Given the description of an element on the screen output the (x, y) to click on. 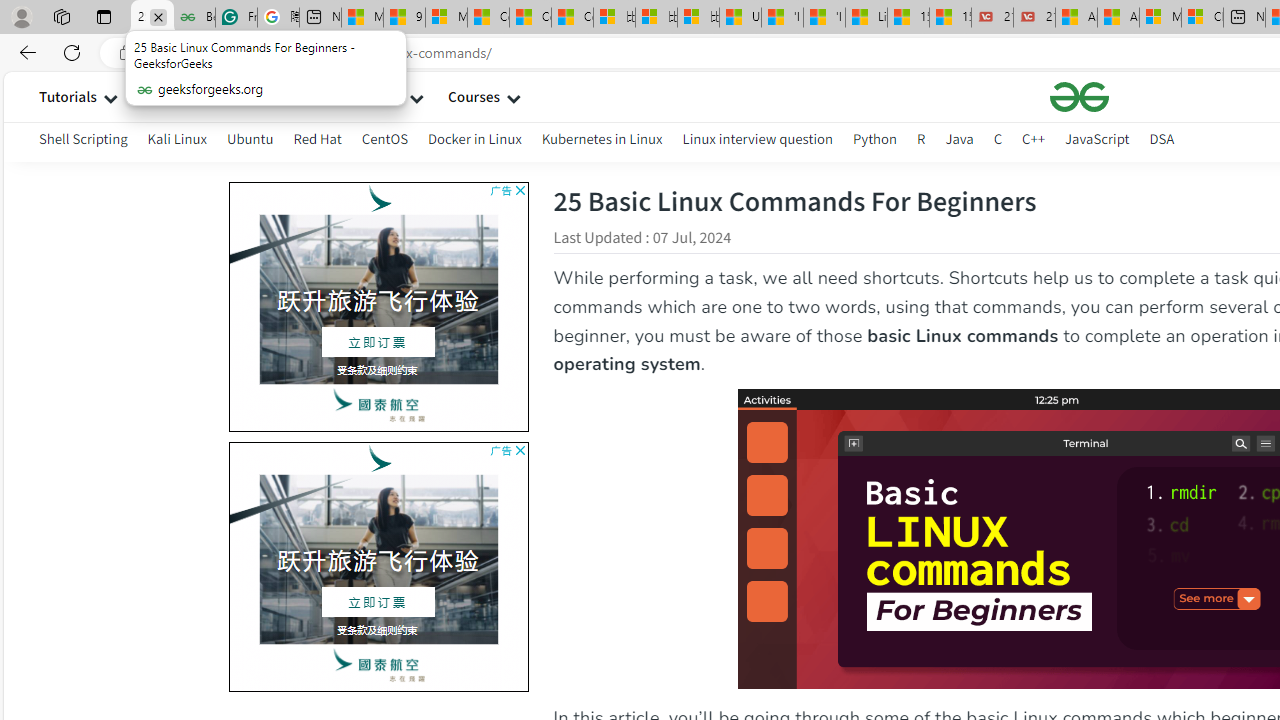
AutomationID: brandLogo (378, 566)
Java (959, 138)
USA TODAY - MSN (740, 17)
25 Basic Linux Commands For Beginners - GeeksforGeeks (151, 17)
C++ (1034, 138)
C (997, 138)
Kubernetes in Linux (602, 138)
Docker in Linux (474, 142)
AutomationID: vapourBg (374, 565)
AutomationID: wheel (225, 440)
Python (874, 142)
